Given the description of an element on the screen output the (x, y) to click on. 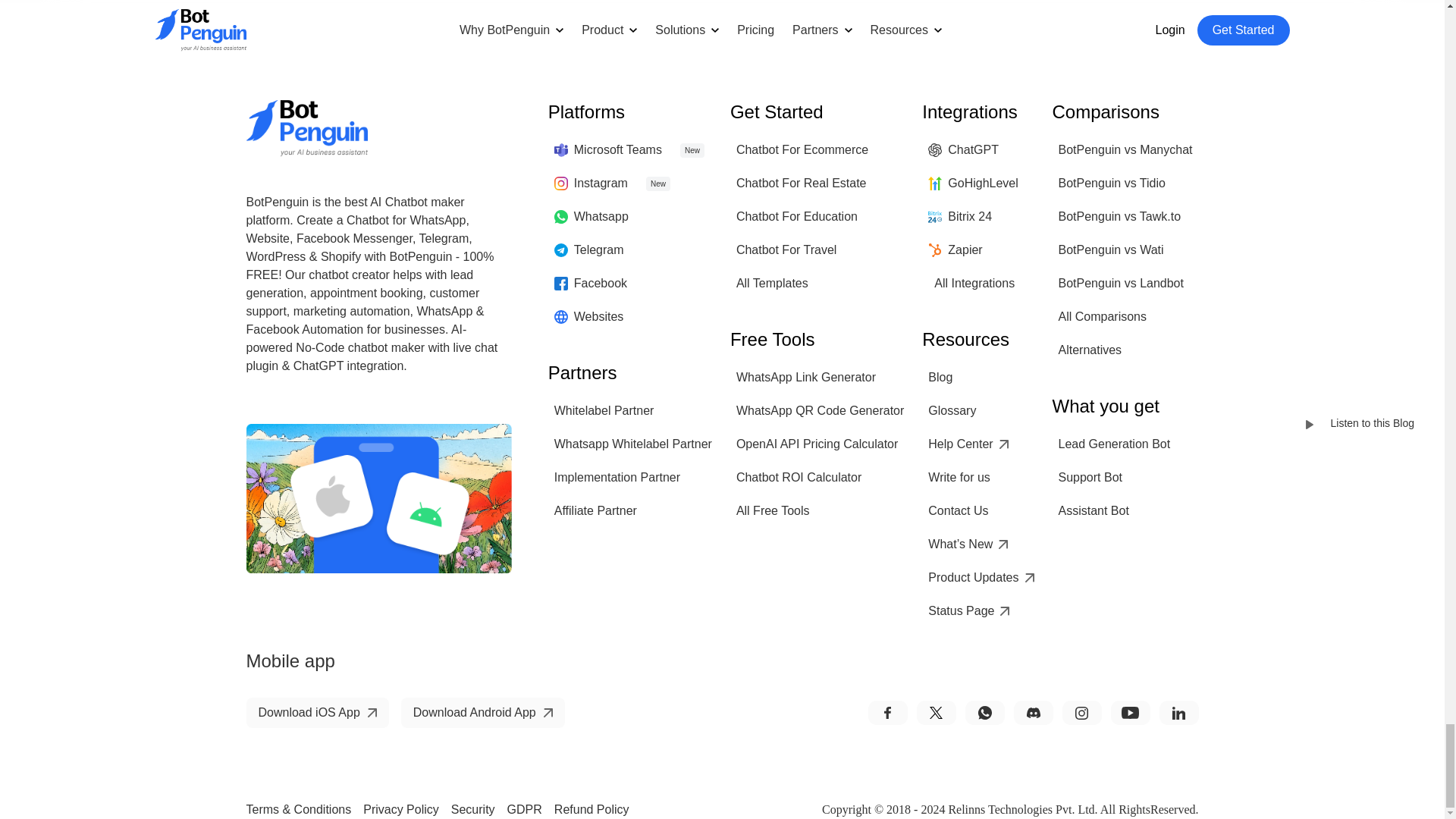
Instagram (590, 183)
Implementation Partner (616, 477)
Facebook (590, 283)
Whitelabel Partner (604, 411)
Websites (589, 316)
Whatsapp Whitelabel Partner (632, 443)
Affiliate Partner (595, 510)
Microsoft Teams (608, 149)
Whatsapp (591, 216)
Telegram (589, 249)
